Given the description of an element on the screen output the (x, y) to click on. 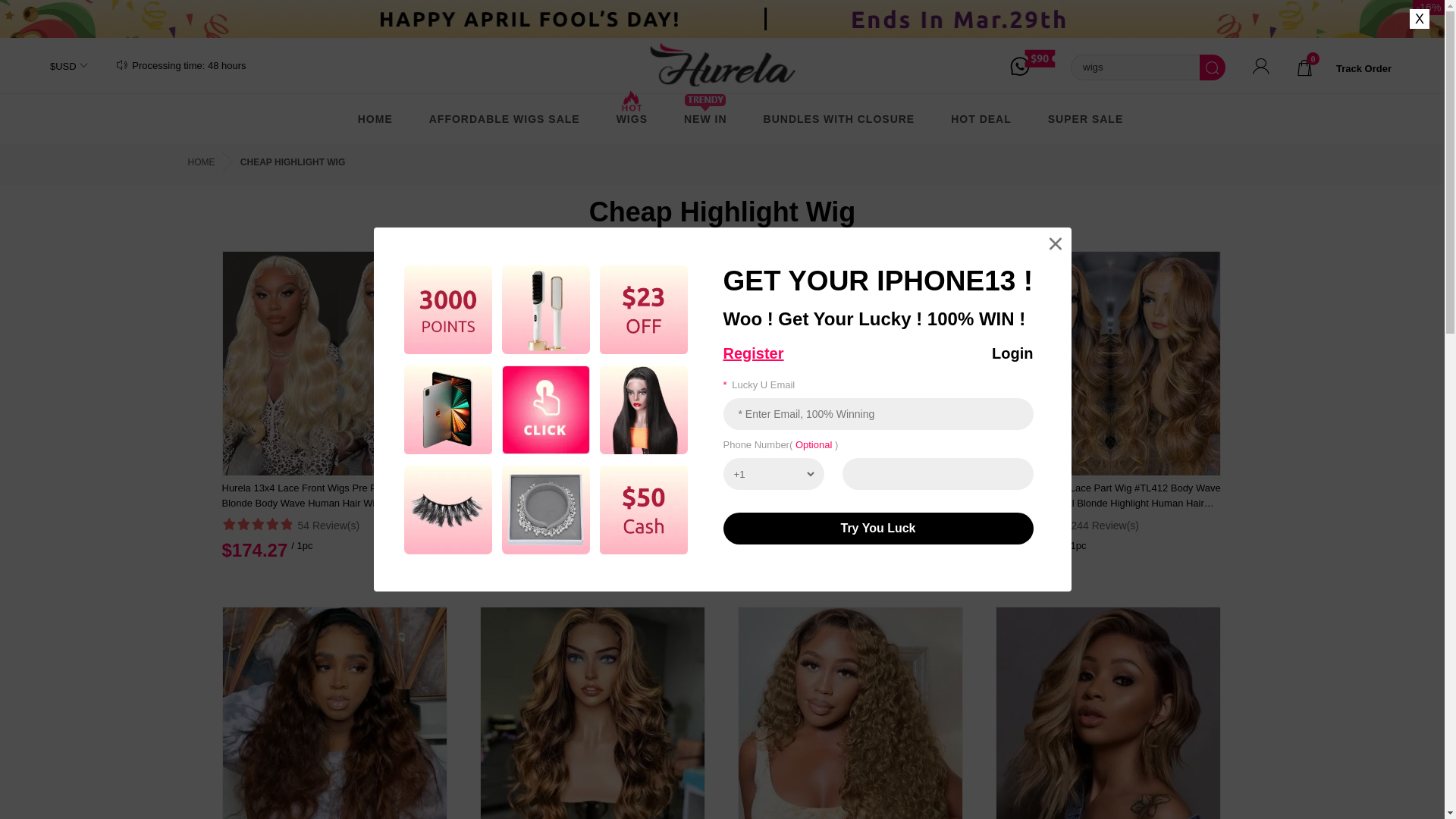
Home (375, 118)
Wigs (631, 118)
WIGS (631, 118)
Currency (61, 66)
HOME (375, 118)
Track Order (1363, 68)
Search (1212, 67)
AFFORDABLE WIGS SALE (504, 118)
wigs (1134, 67)
wigs (1134, 67)
